Given the description of an element on the screen output the (x, y) to click on. 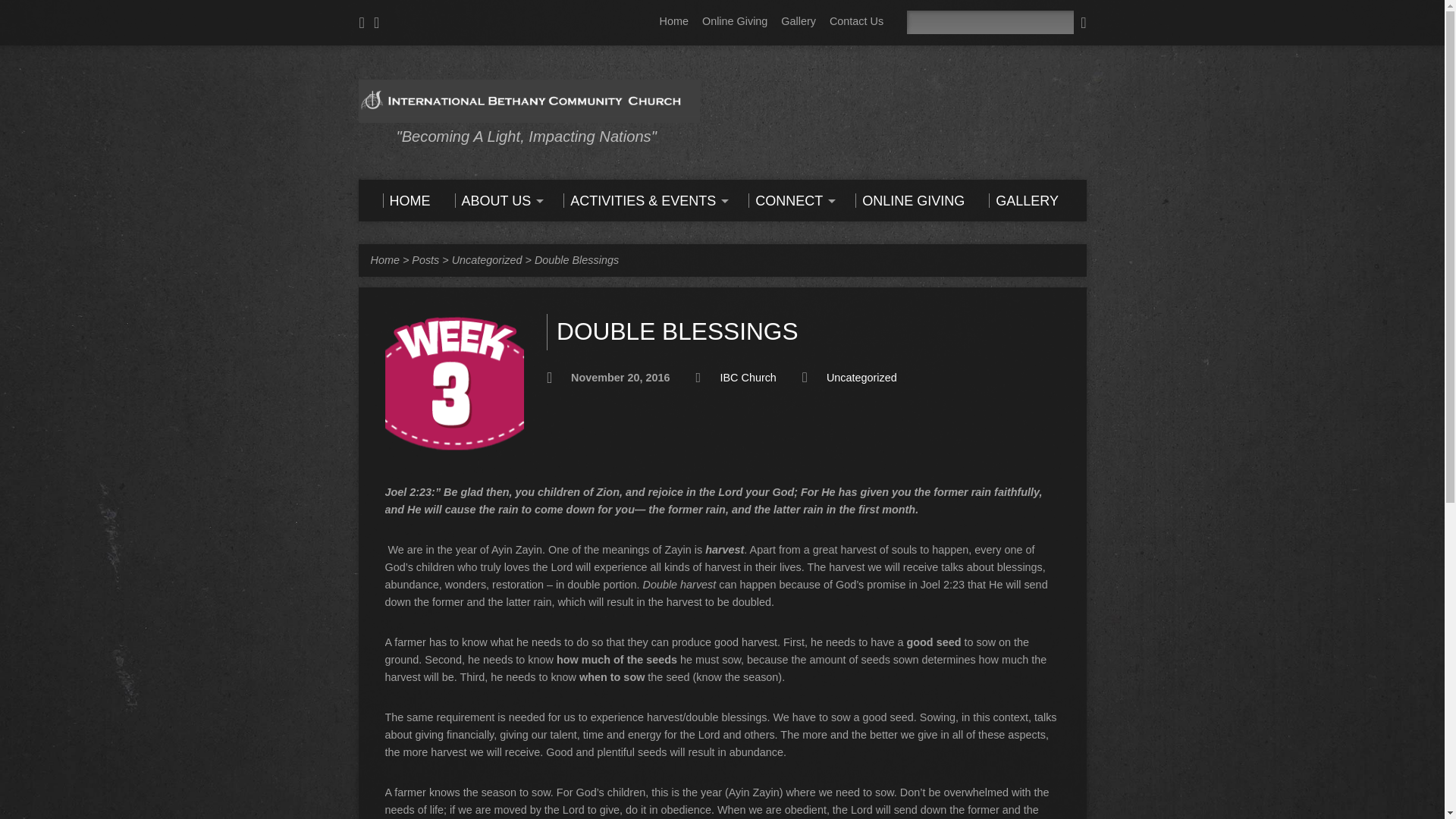
Gallery (797, 21)
Posts (425, 259)
IBC Church (748, 377)
Home (383, 259)
ONLINE GIVING (909, 200)
Online Giving (734, 21)
ABOUT US (497, 200)
GALLERY (1023, 200)
Uncategorized (486, 259)
CONNECT (789, 200)
Double Blessings (576, 259)
Contact Us (856, 21)
Home (673, 21)
HOME (405, 200)
